Given the description of an element on the screen output the (x, y) to click on. 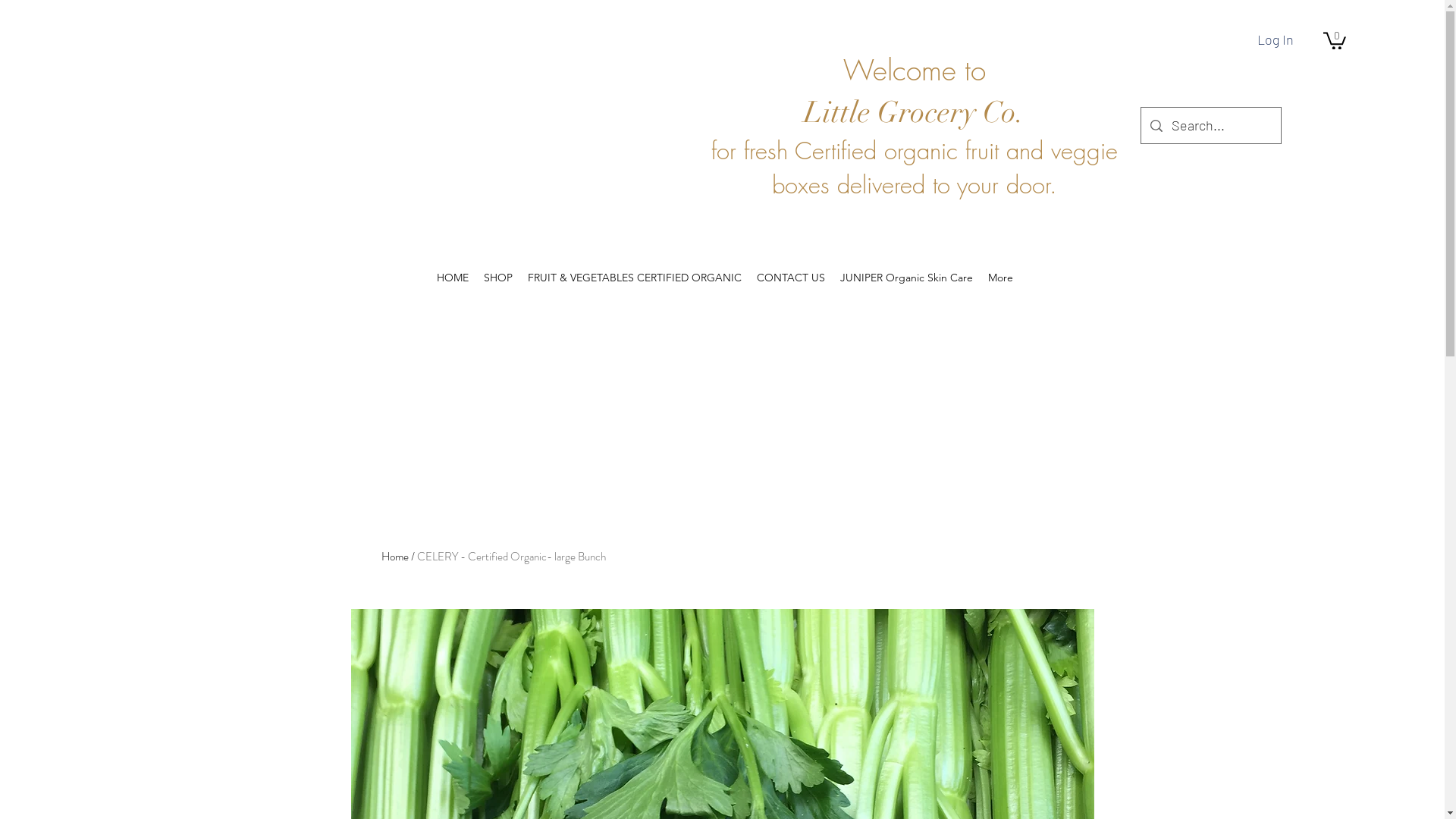
FRUIT & VEGETABLES CERTIFIED ORGANIC Element type: text (634, 277)
SHOP Element type: text (498, 277)
0 Element type: text (1334, 39)
Log In Element type: text (1275, 39)
Home Element type: text (393, 556)
CONTACT US Element type: text (790, 277)
Little Grocery Co. Element type: text (913, 112)
CELERY - Certified Organic- large Bunch Element type: text (511, 556)
JUNIPER Organic Skin Care Element type: text (906, 277)
HOME Element type: text (452, 277)
Welcome to Element type: text (914, 69)
